Given the description of an element on the screen output the (x, y) to click on. 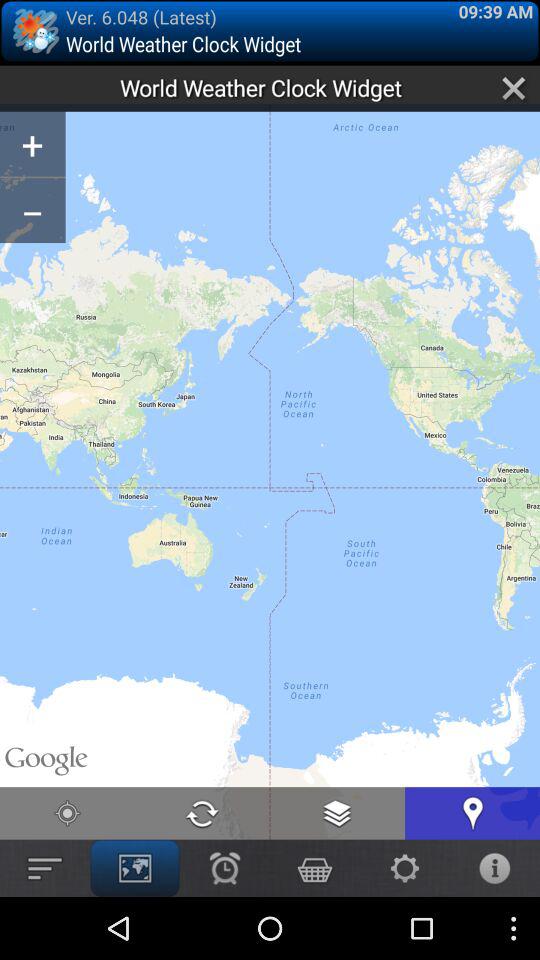
icon left to the alarm clock icon (134, 868)
click on the icon to the right of widget (514, 89)
select the icon which indicates information symbol (494, 868)
click on the document icon at the bottom of the page (337, 813)
select the icon which is present  at bottom left corner (44, 868)
